Given the description of an element on the screen output the (x, y) to click on. 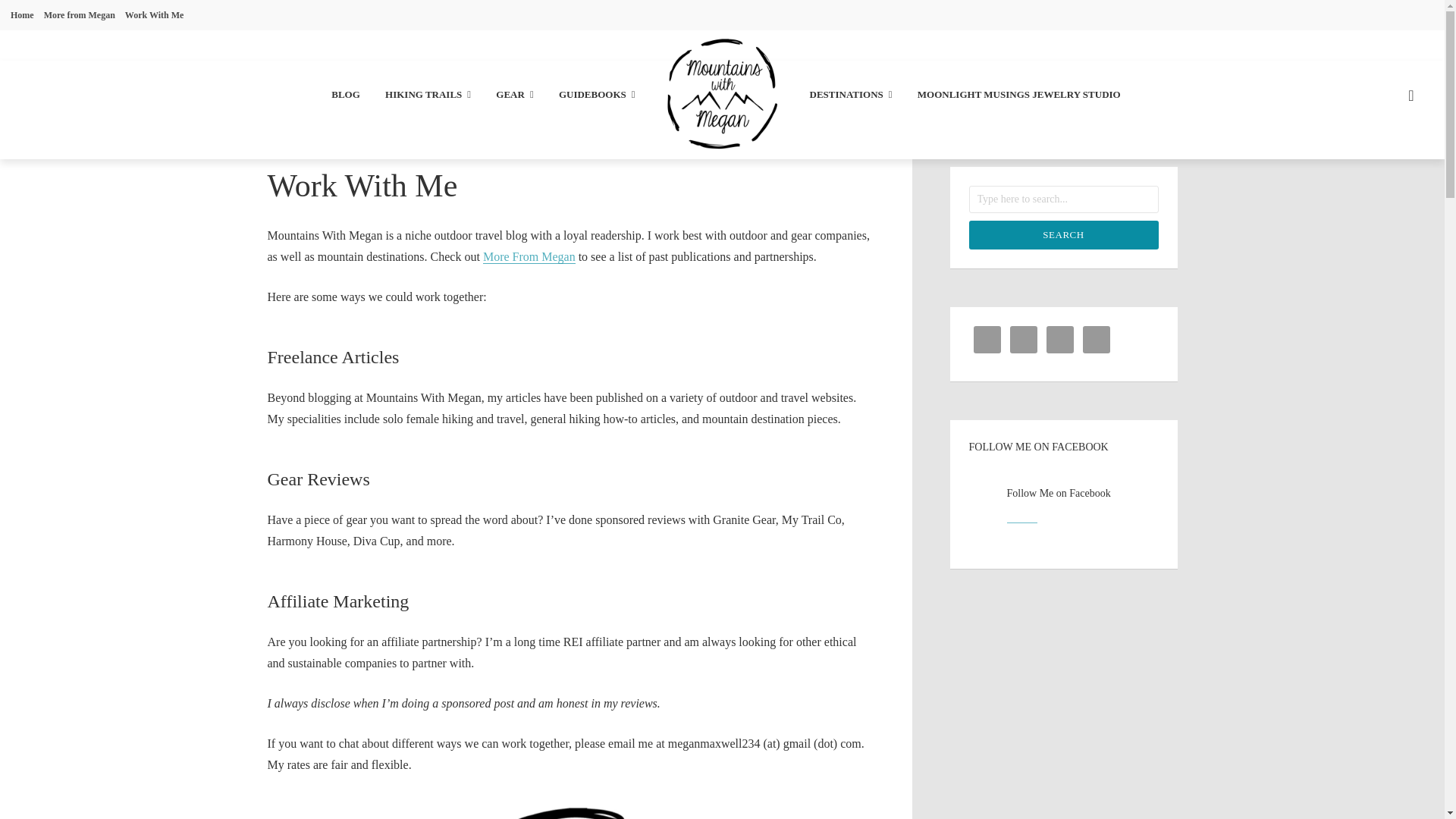
GUIDEBOOKS (596, 95)
Work With Me (154, 15)
More from Megan (79, 15)
HIKING TRAILS (427, 95)
GEAR (514, 95)
DESTINATIONS (850, 95)
Home (21, 15)
